Given the description of an element on the screen output the (x, y) to click on. 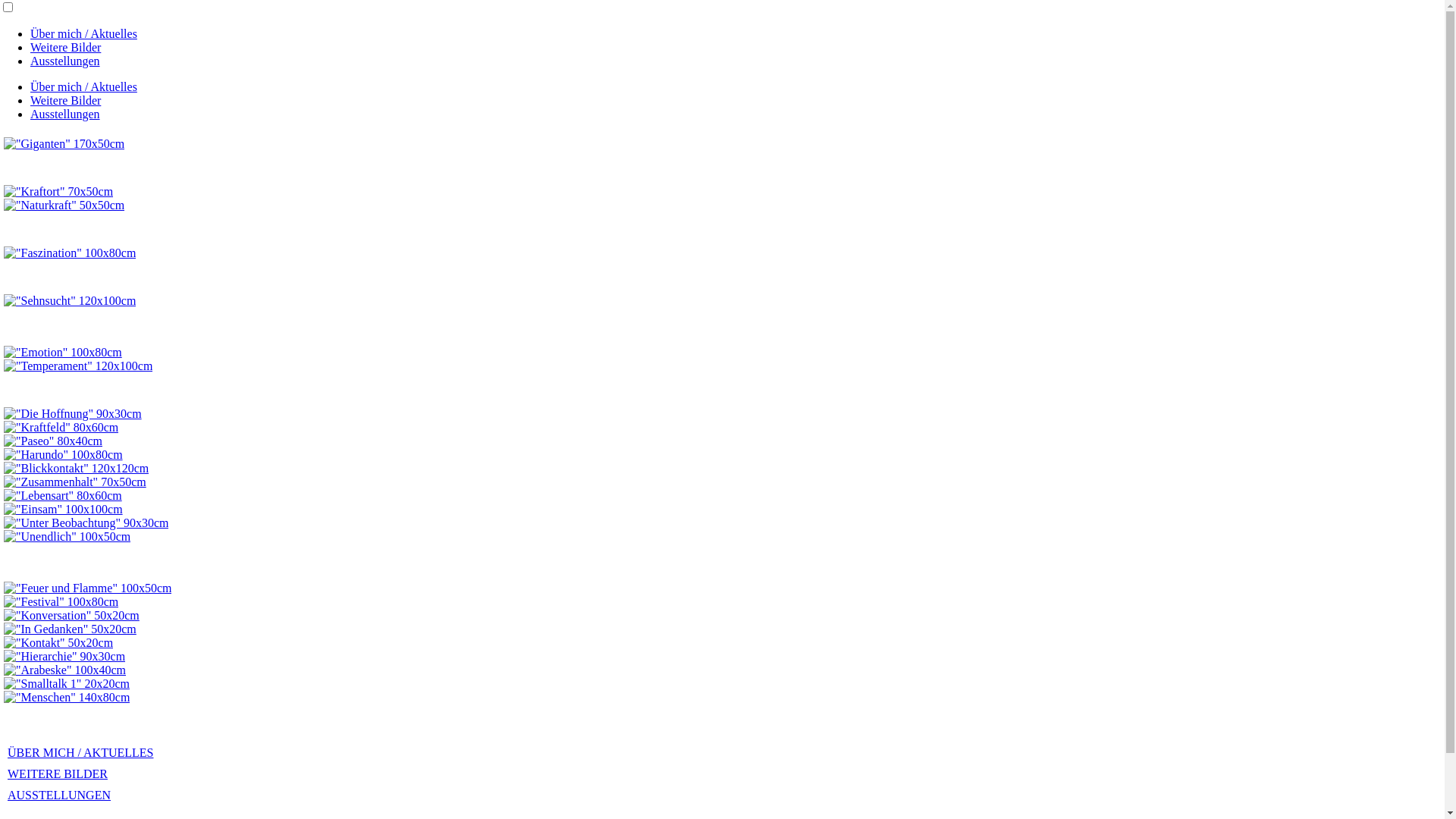
AUSSTELLUNGEN Element type: text (58, 794)
Weitere Bilder Element type: text (65, 100)
WEITERE BILDER Element type: text (57, 773)
Ausstellungen Element type: text (65, 60)
Ausstellungen Element type: text (65, 113)
Weitere Bilder Element type: text (65, 46)
